Given the description of an element on the screen output the (x, y) to click on. 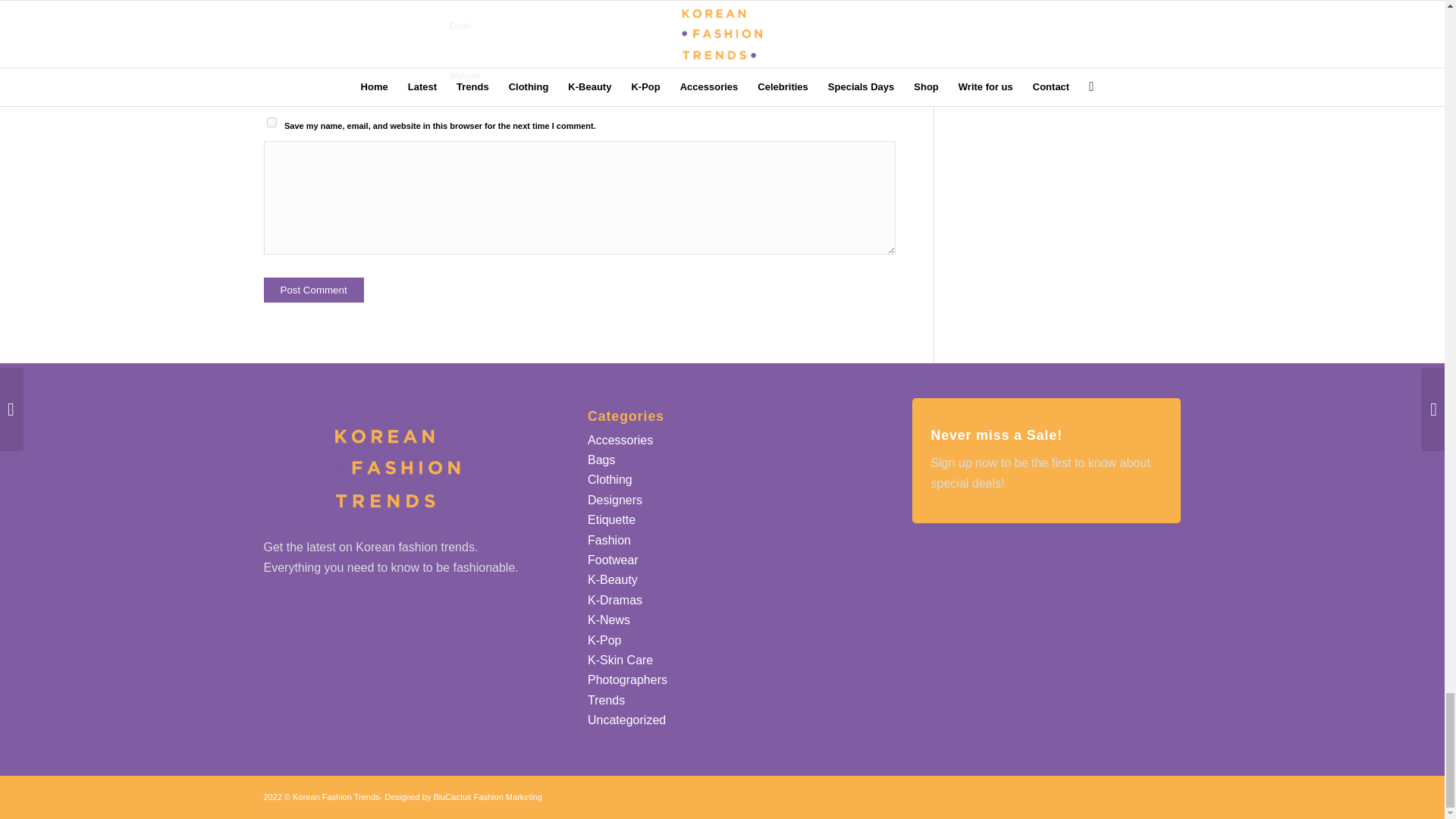
yes (271, 122)
Post Comment (313, 289)
